Given the description of an element on the screen output the (x, y) to click on. 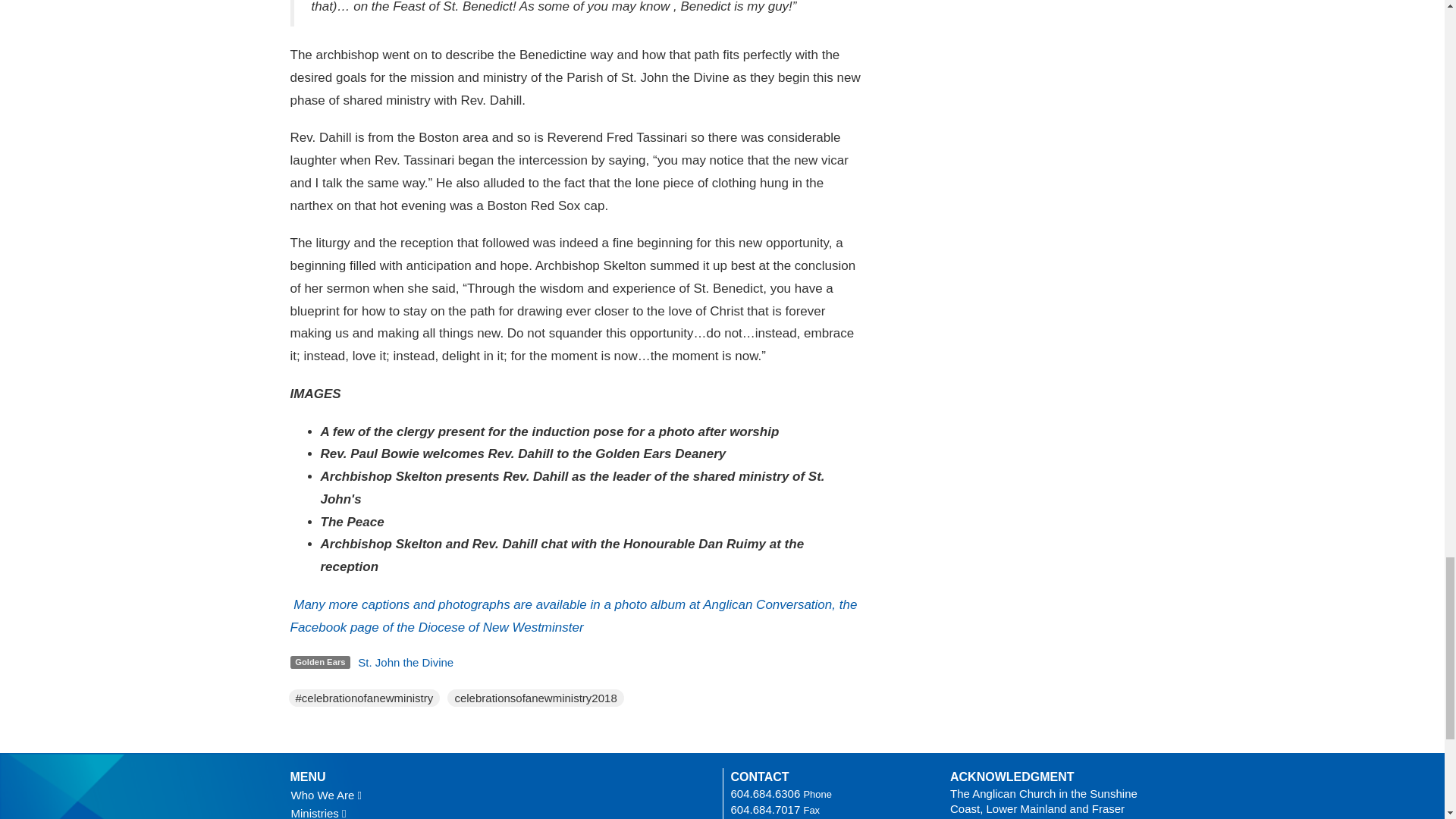
celebrationsofanewministry2018 (534, 696)
St. John the Divine (405, 661)
